Given the description of an element on the screen output the (x, y) to click on. 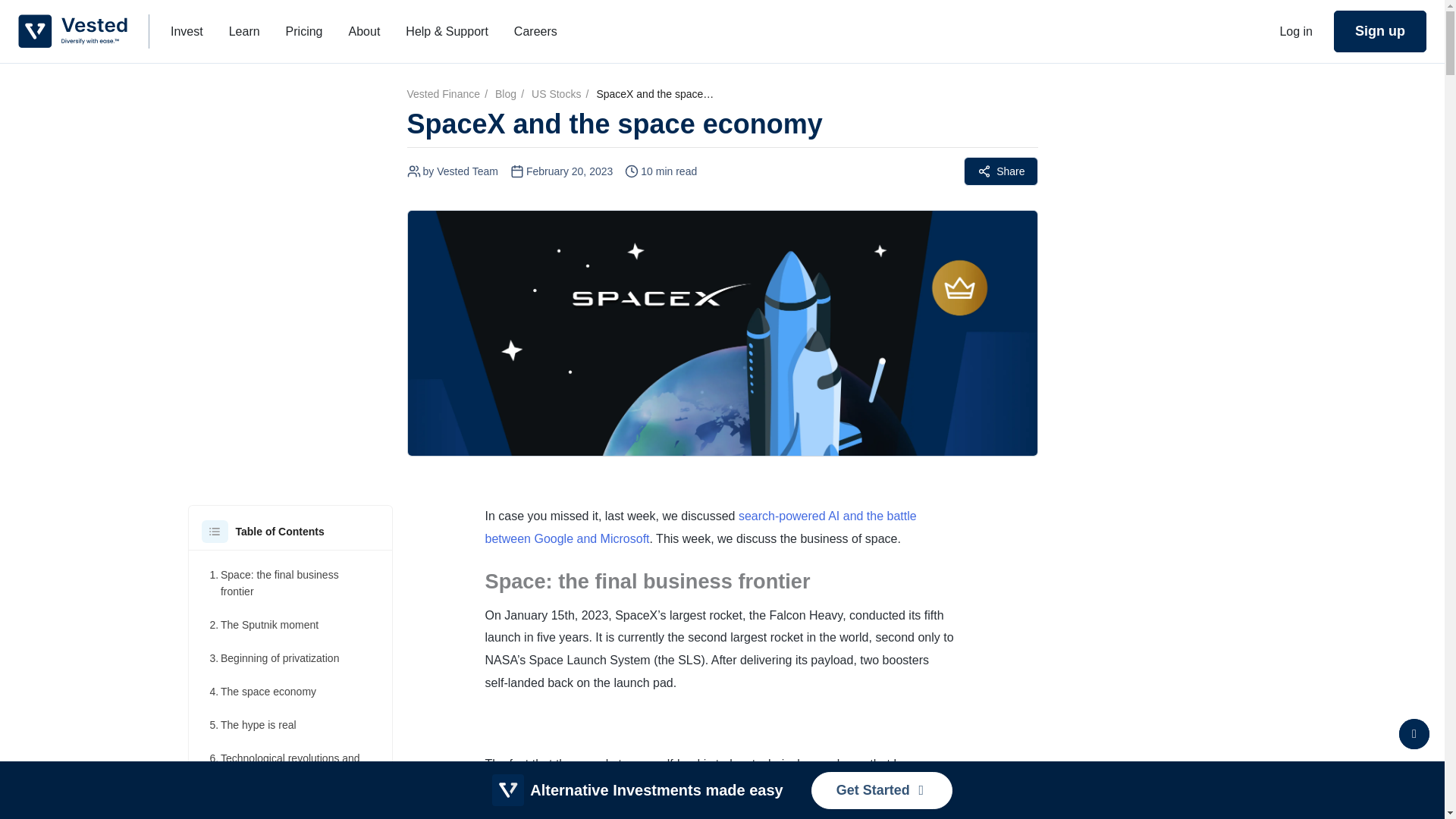
Invest (186, 31)
Back to Chapters (1414, 734)
Space: the final business frontier (289, 582)
Careers (535, 31)
Pricing (303, 31)
Sign up (1379, 31)
Beginning of privatization (274, 658)
Learn (244, 31)
Technological revolutions and bubbles come hand in hand (289, 766)
The space economy (262, 691)
The Sputnik moment (263, 624)
The hype is real (252, 724)
About (364, 31)
